Given the description of an element on the screen output the (x, y) to click on. 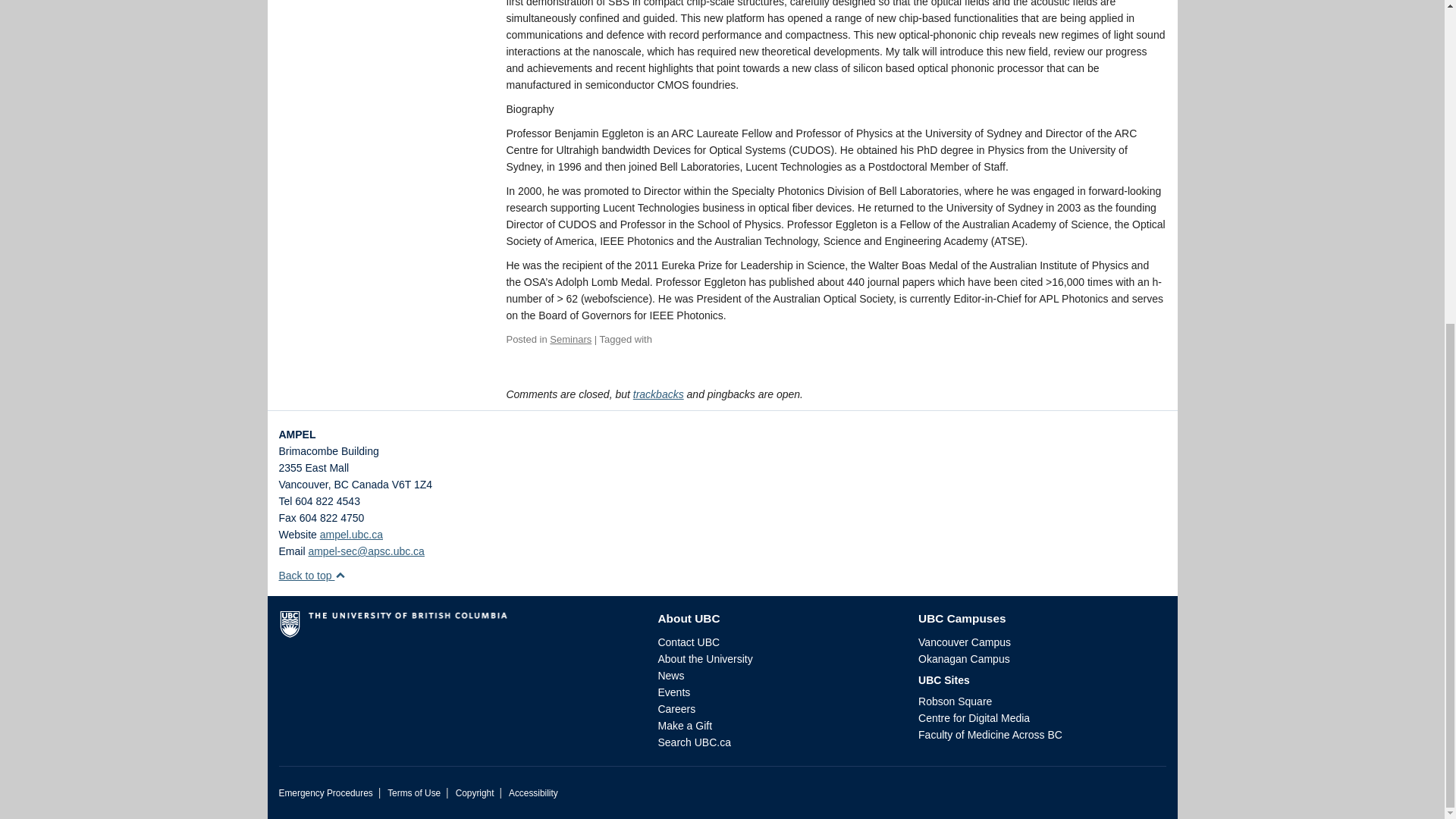
Back to top (312, 575)
Accessibility (532, 792)
UBC Copyright (475, 792)
Terms of Use (414, 792)
Trackback URL for this post (658, 394)
Emergency Procedures (325, 792)
